Given the description of an element on the screen output the (x, y) to click on. 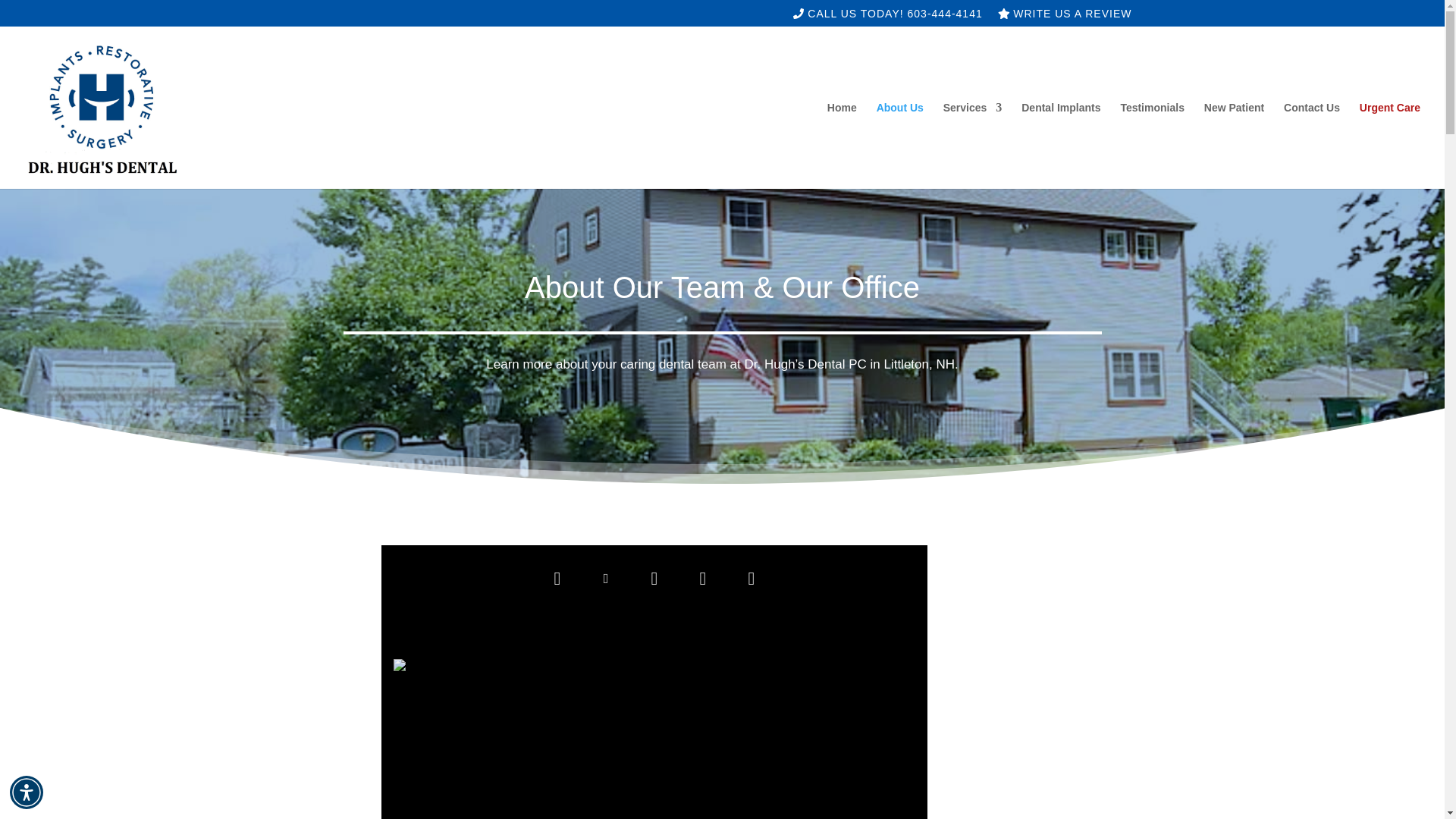
Dental Implants (1061, 145)
WRITE US A REVIEW (1064, 16)
Accessibility Menu (26, 792)
CALL US TODAY! 603-444-4141 (887, 16)
